Given the description of an element on the screen output the (x, y) to click on. 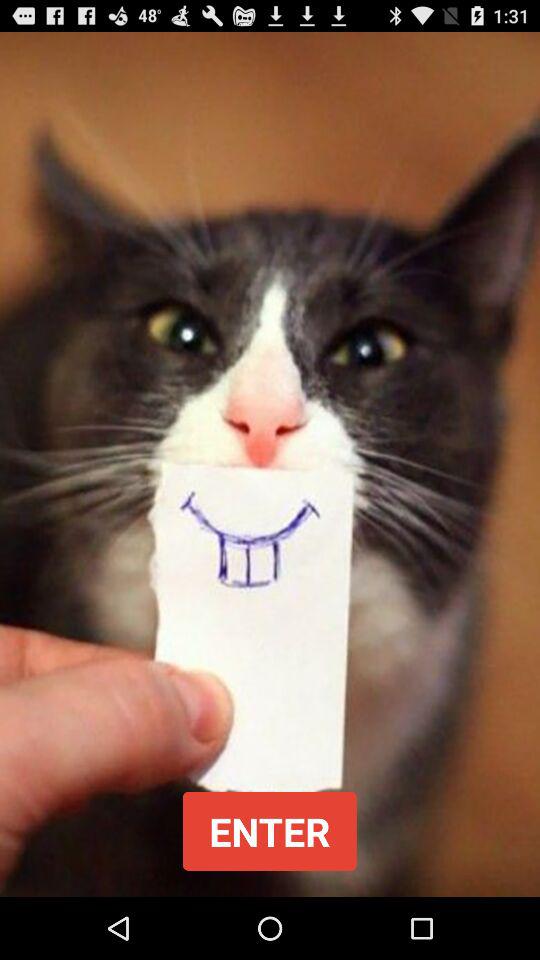
flip until enter (269, 830)
